Given the description of an element on the screen output the (x, y) to click on. 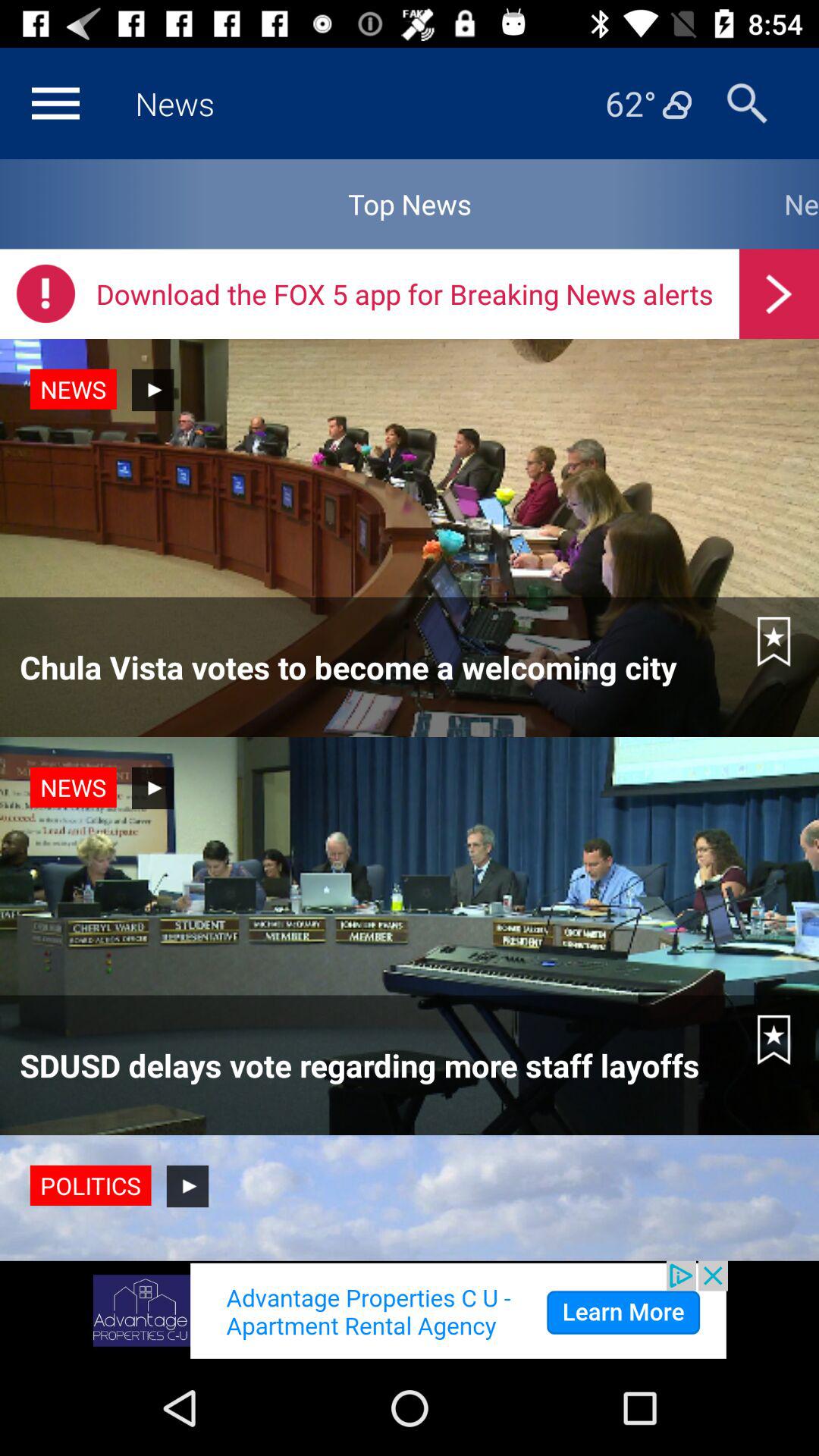
search about add (409, 1310)
